Given the description of an element on the screen output the (x, y) to click on. 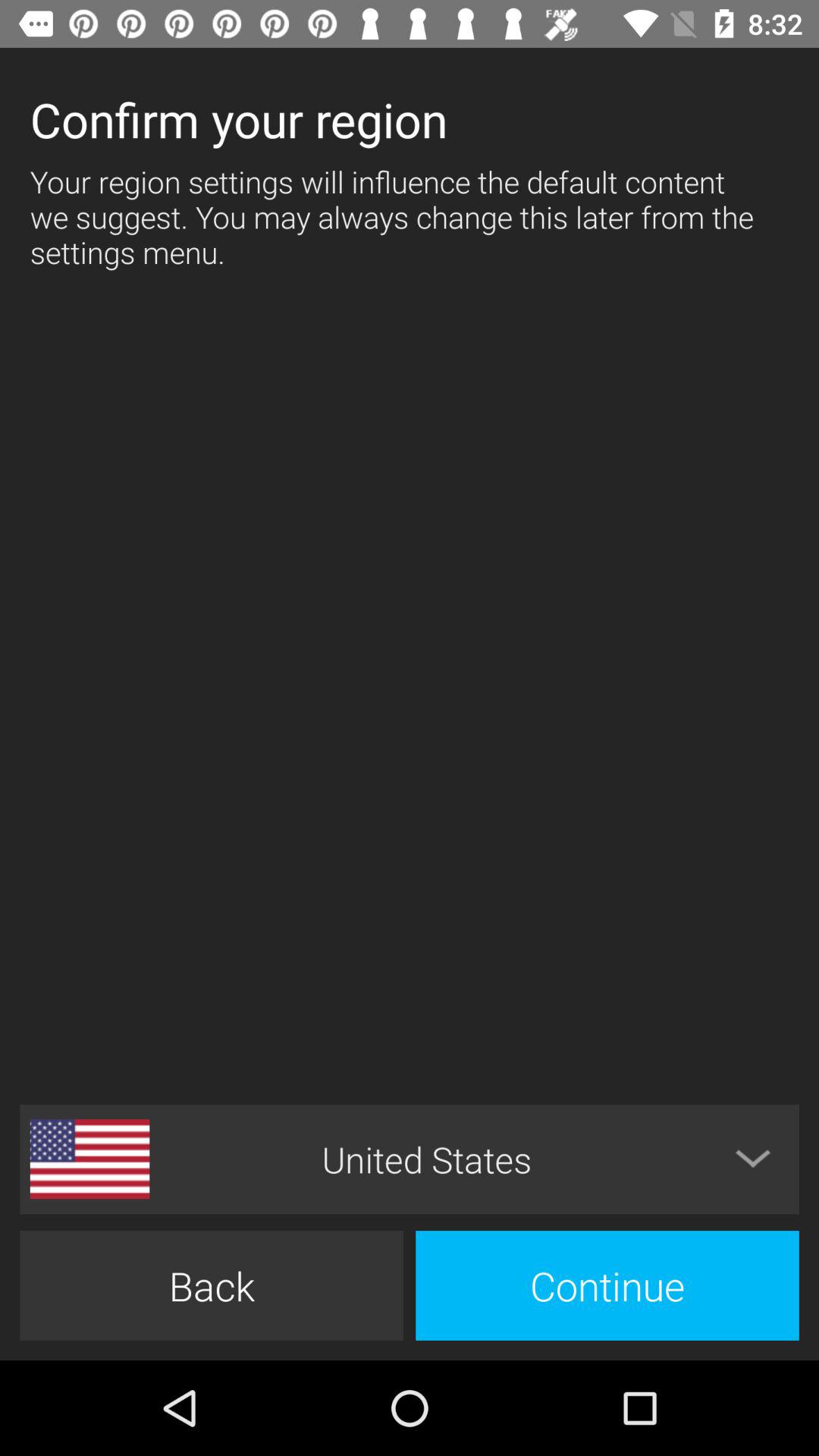
tap the continue item (607, 1285)
